Given the description of an element on the screen output the (x, y) to click on. 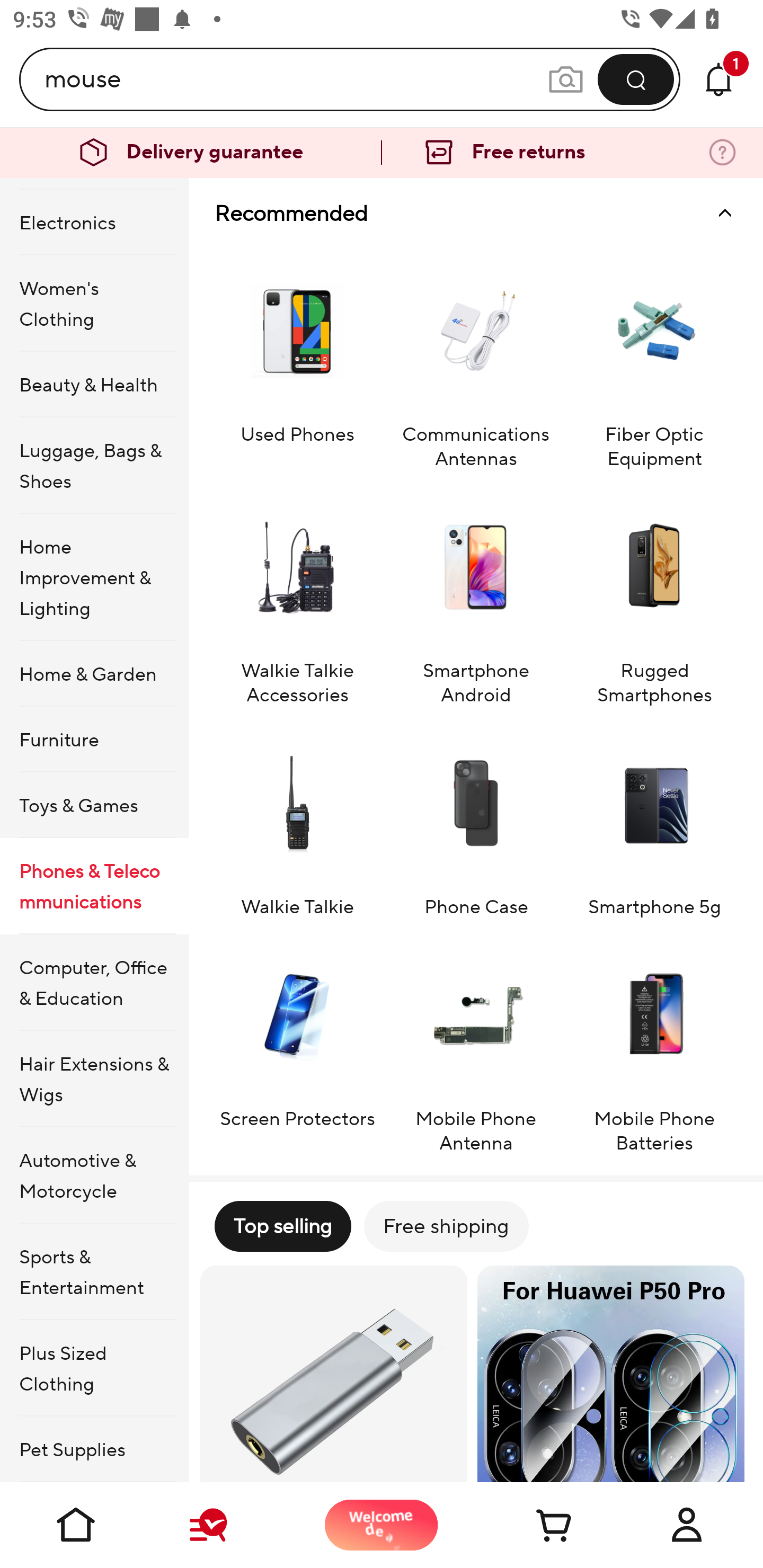
mouse Search query (295, 79)
Messages 1 (718, 79)
Delivery guarantee Free returns (381, 152)
Recommended  (476, 212)
Electronics (94, 222)
Used Phones (296, 359)
Communications Antennas (475, 359)
Fiber Optic Equipment (654, 359)
Women's Clothing (94, 303)
Beauty & Health (94, 384)
Luggage, Bags & Shoes (94, 465)
Walkie Talkie Accessories (296, 596)
Smartphone Android (475, 596)
Rugged Smartphones (654, 596)
Home Improvement & Lighting (94, 577)
Home & Garden (94, 674)
Furniture (94, 740)
Walkie Talkie (296, 820)
Phone Case (475, 820)
Smartphone 5g (654, 820)
Toys & Games (94, 805)
Phones & Telecommunications (94, 885)
Screen Protectors (296, 1044)
Mobile Phone Antenna (475, 1044)
Mobile Phone Batteries (654, 1044)
Computer, Office & Education (94, 982)
Hair Extensions & Wigs (94, 1078)
Automotive & Motorcycle (94, 1175)
Top selling (282, 1226)
Free shipping (445, 1226)
Sports & Entertainment (94, 1271)
Plus Sized Clothing (94, 1367)
Pet Supplies (94, 1448)
Home (76, 1524)
Cart (533, 1524)
Account (686, 1524)
